Given the description of an element on the screen output the (x, y) to click on. 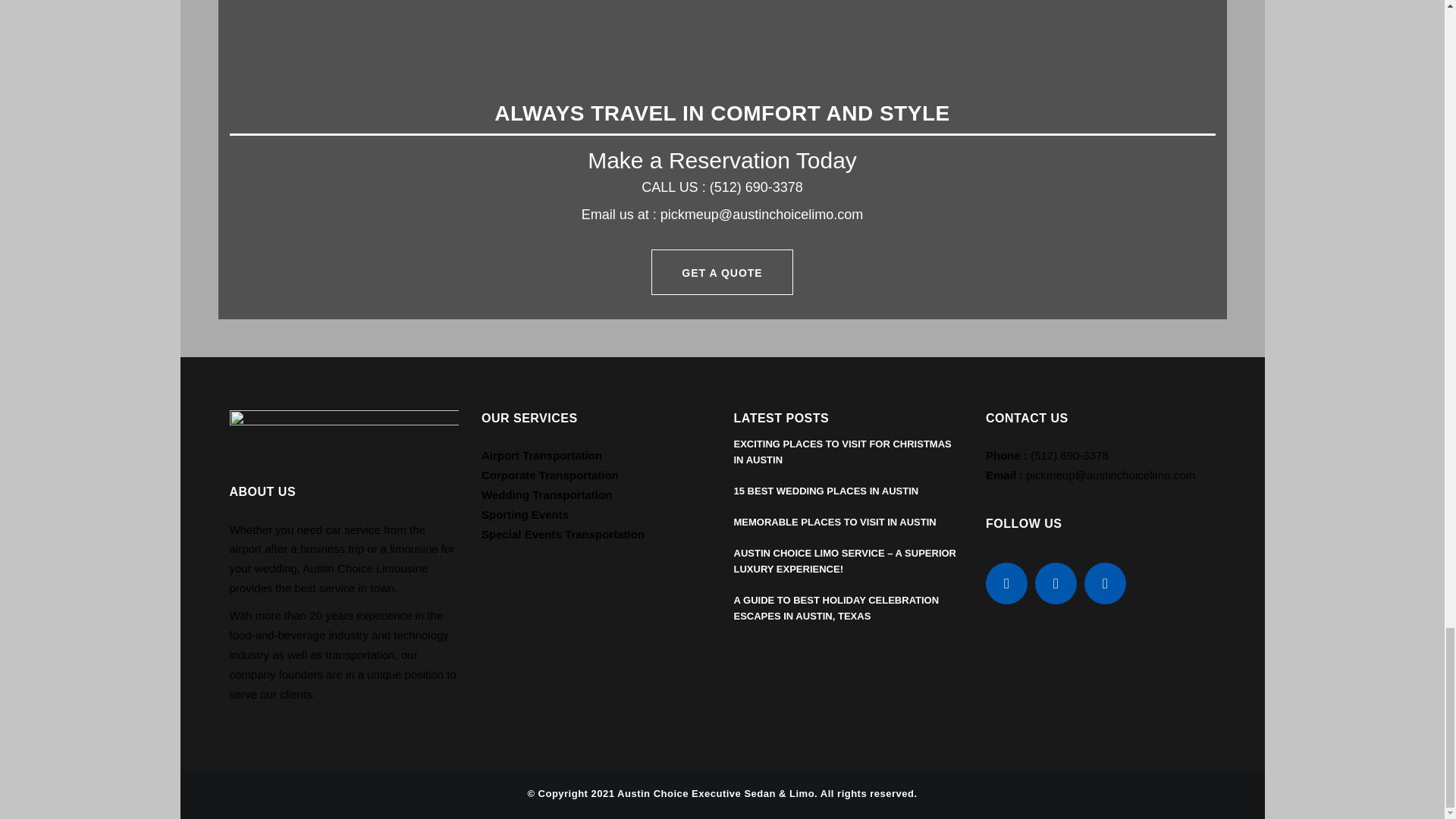
15 BEST WEDDING PLACES IN AUSTIN (825, 490)
MEMORABLE PLACES TO VISIT IN AUSTIN (834, 521)
A GUIDE TO BEST HOLIDAY CELEBRATION ESCAPES IN AUSTIN, TEXAS (836, 607)
GET A QUOTE (721, 271)
EXCITING PLACES TO VISIT FOR CHRISTMAS IN AUSTIN (842, 452)
